Given the description of an element on the screen output the (x, y) to click on. 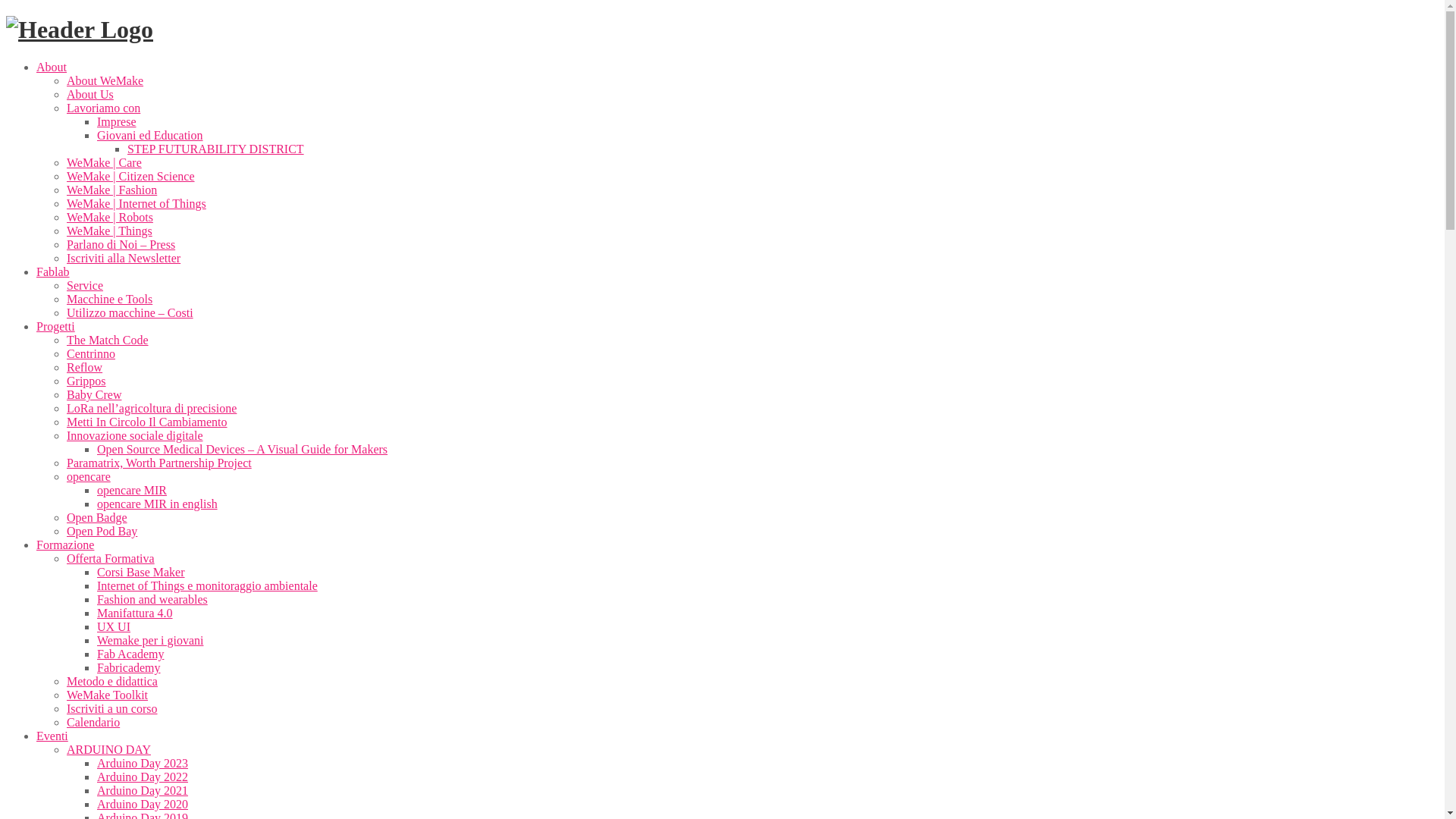
Giovani ed Education Element type: text (150, 134)
About Element type: text (51, 66)
Corsi Base Maker Element type: text (141, 571)
WeMake | Robots Element type: text (109, 216)
About Us Element type: text (89, 93)
WeMake | Care Element type: text (103, 162)
Fashion and wearables Element type: text (152, 599)
opencare MIR in english Element type: text (157, 503)
opencare MIR Element type: text (131, 489)
WeMake | Internet of Things Element type: text (136, 203)
UX UI Element type: text (113, 626)
Imprese Element type: text (116, 121)
Arduino Day 2020 Element type: text (142, 803)
Open Badge Element type: text (96, 517)
Service Element type: text (84, 285)
Internet of Things e monitoraggio ambientale Element type: text (207, 585)
Offerta Formativa Element type: text (110, 558)
Fab Academy Element type: text (130, 653)
Progetti Element type: text (55, 326)
Fabricademy Element type: text (128, 667)
Open Pod Bay Element type: text (101, 530)
Innovazione sociale digitale Element type: text (134, 435)
Centrinno Element type: text (90, 353)
Arduino Day 2021 Element type: text (142, 790)
The Match Code Element type: text (107, 339)
Grippos Element type: text (86, 380)
opencare Element type: text (88, 476)
Calendario Element type: text (92, 721)
Paramatrix, Worth Partnership Project Element type: text (158, 462)
WeMake | Fashion Element type: text (111, 189)
WeMake | Things Element type: text (109, 230)
Iscriviti alla Newsletter Element type: text (123, 257)
Metodo e didattica Element type: text (111, 680)
WeMake | Makerspace Fablab Element type: hover (79, 29)
STEP FUTURABILITY DISTRICT Element type: text (215, 148)
Wemake per i giovani Element type: text (150, 639)
Formazione Element type: text (65, 544)
WeMake Toolkit Element type: text (106, 694)
Arduino Day 2022 Element type: text (142, 776)
Arduino Day 2023 Element type: text (142, 762)
About WeMake Element type: text (104, 80)
Reflow Element type: text (84, 366)
Manifattura 4.0 Element type: text (134, 612)
Iscriviti a un corso Element type: text (111, 708)
WeMake | Citizen Science Element type: text (130, 175)
Eventi Element type: text (52, 735)
Fablab Element type: text (52, 271)
ARDUINO DAY Element type: text (108, 749)
Macchine e Tools Element type: text (109, 298)
Baby Crew Element type: text (93, 394)
Lavoriamo con Element type: text (103, 107)
Metti In Circolo Il Cambiamento Element type: text (146, 421)
